Given the description of an element on the screen output the (x, y) to click on. 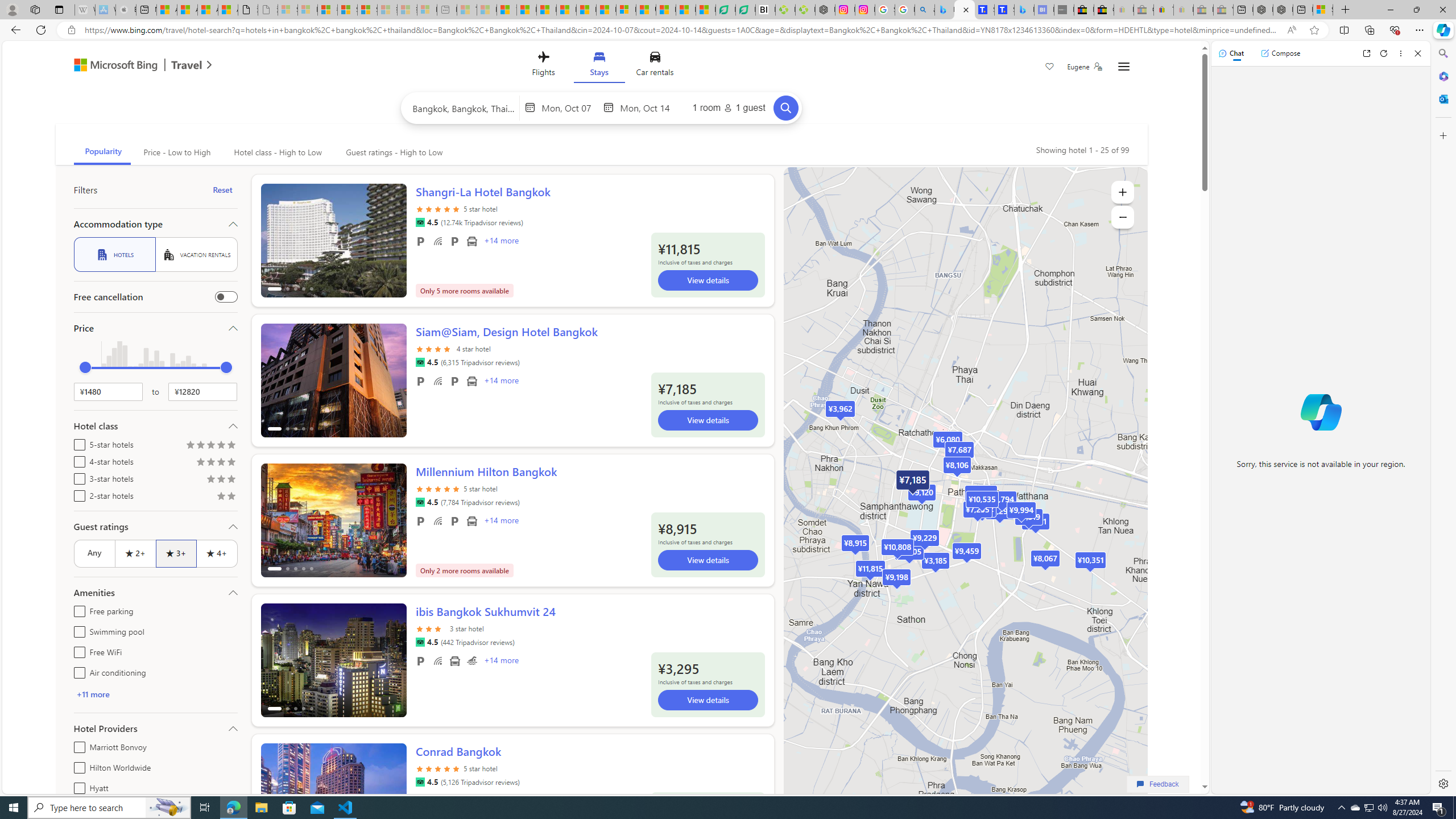
Microsoft Bing Travel - Shangri-La Hotel Bangkok (1024, 9)
Any (93, 553)
star rating (437, 768)
HOTELS (113, 254)
Save (1049, 67)
4+ (216, 553)
Start Date (569, 107)
View details (708, 699)
Accommodation type (154, 223)
